Given the description of an element on the screen output the (x, y) to click on. 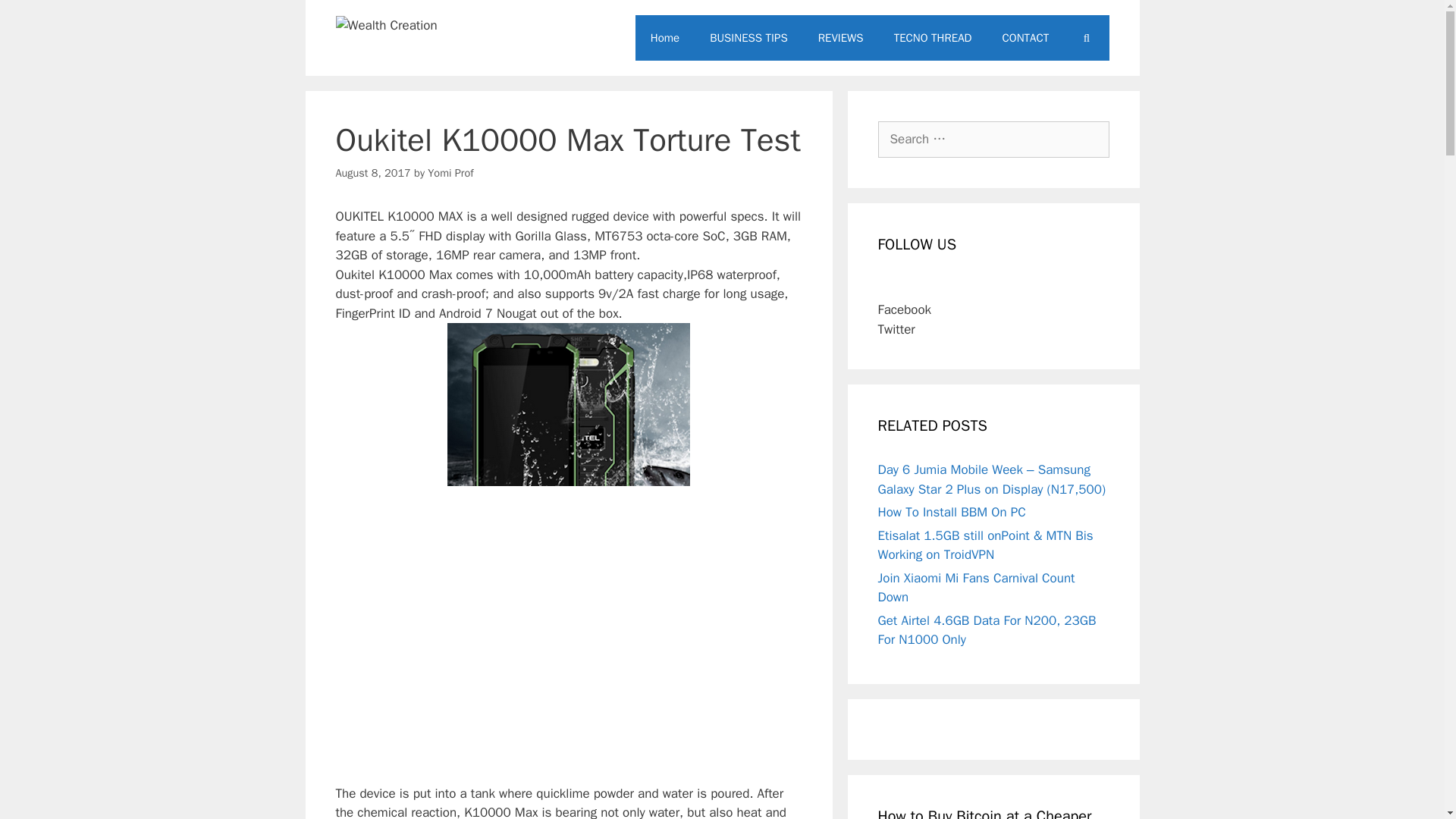
Search for: (993, 139)
Yomi Prof (450, 172)
View all posts by Yomi Prof (450, 172)
REVIEWS (841, 37)
BUSINESS TIPS (748, 37)
CONTACT (1025, 37)
Home (664, 37)
TECNO THREAD (933, 37)
